Given the description of an element on the screen output the (x, y) to click on. 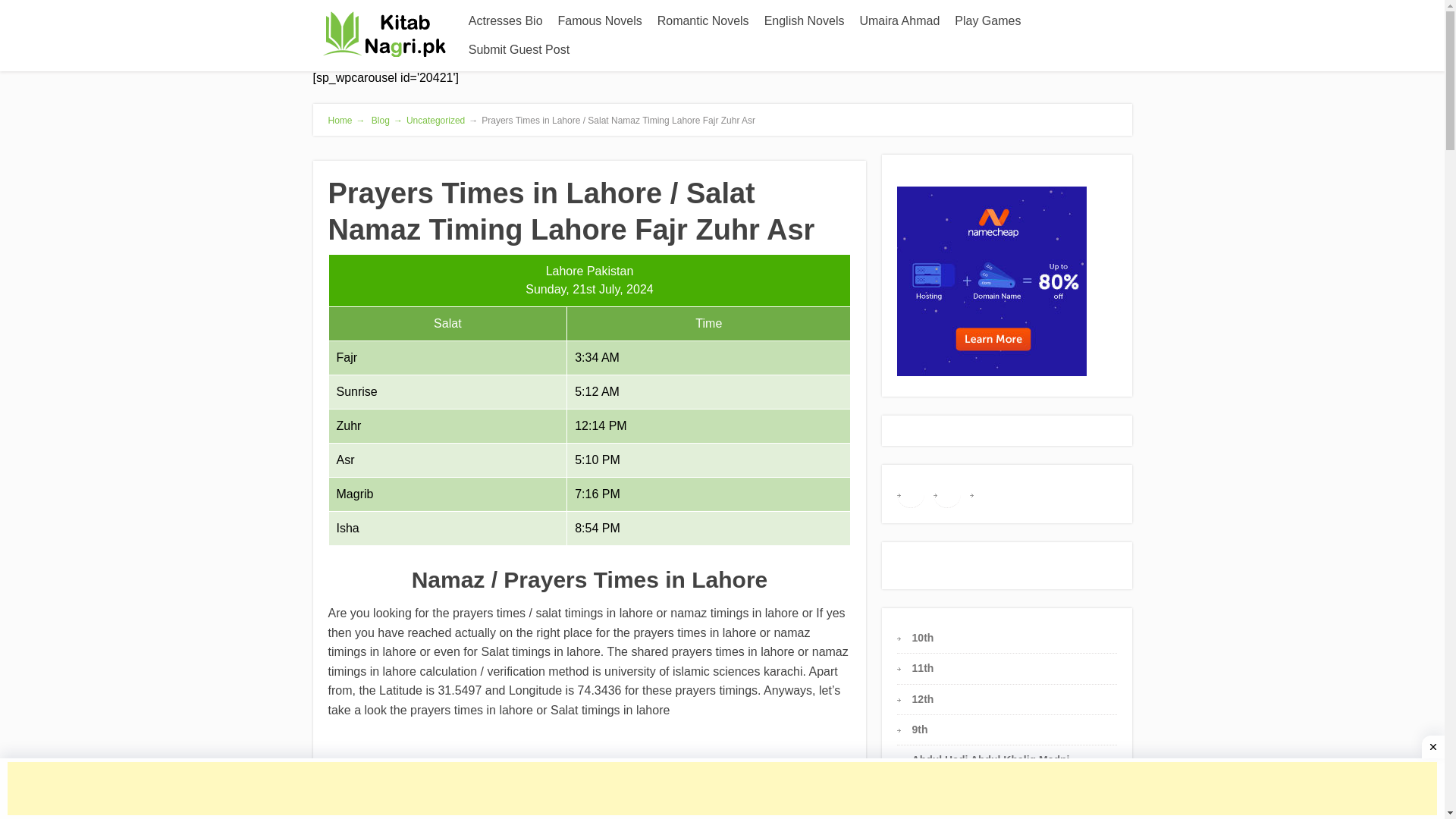
Pinterest (946, 492)
Famous Novels (599, 21)
Abdul Hadi Abdul Khaliq Madni (991, 759)
12th (923, 698)
Facebook (910, 492)
Play Games (987, 21)
Romantic Novels (703, 21)
Umaira Ahmad (899, 21)
English Novels (804, 21)
9th (920, 729)
Tumblr (983, 492)
Actresses Bio (505, 21)
Uncategorized (435, 120)
Abu Yahya (939, 816)
11th (923, 667)
